Given the description of an element on the screen output the (x, y) to click on. 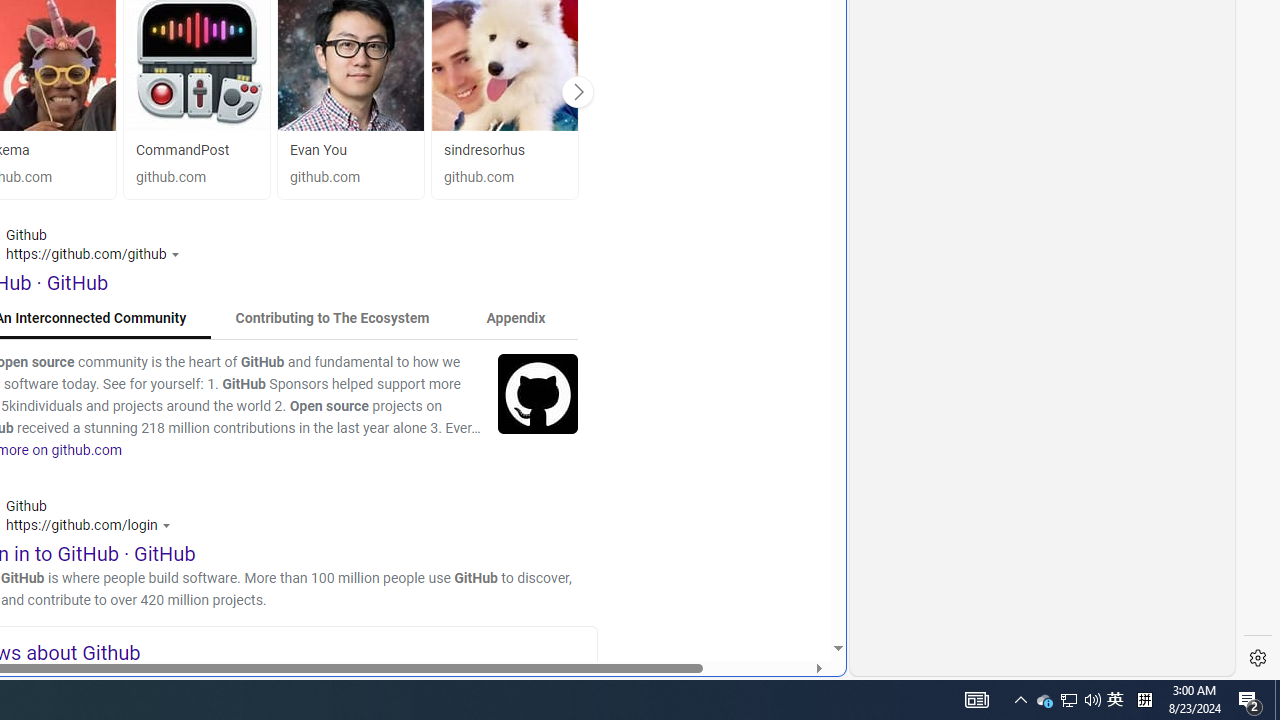
Evan You (318, 150)
github.com (504, 178)
